Given the description of an element on the screen output the (x, y) to click on. 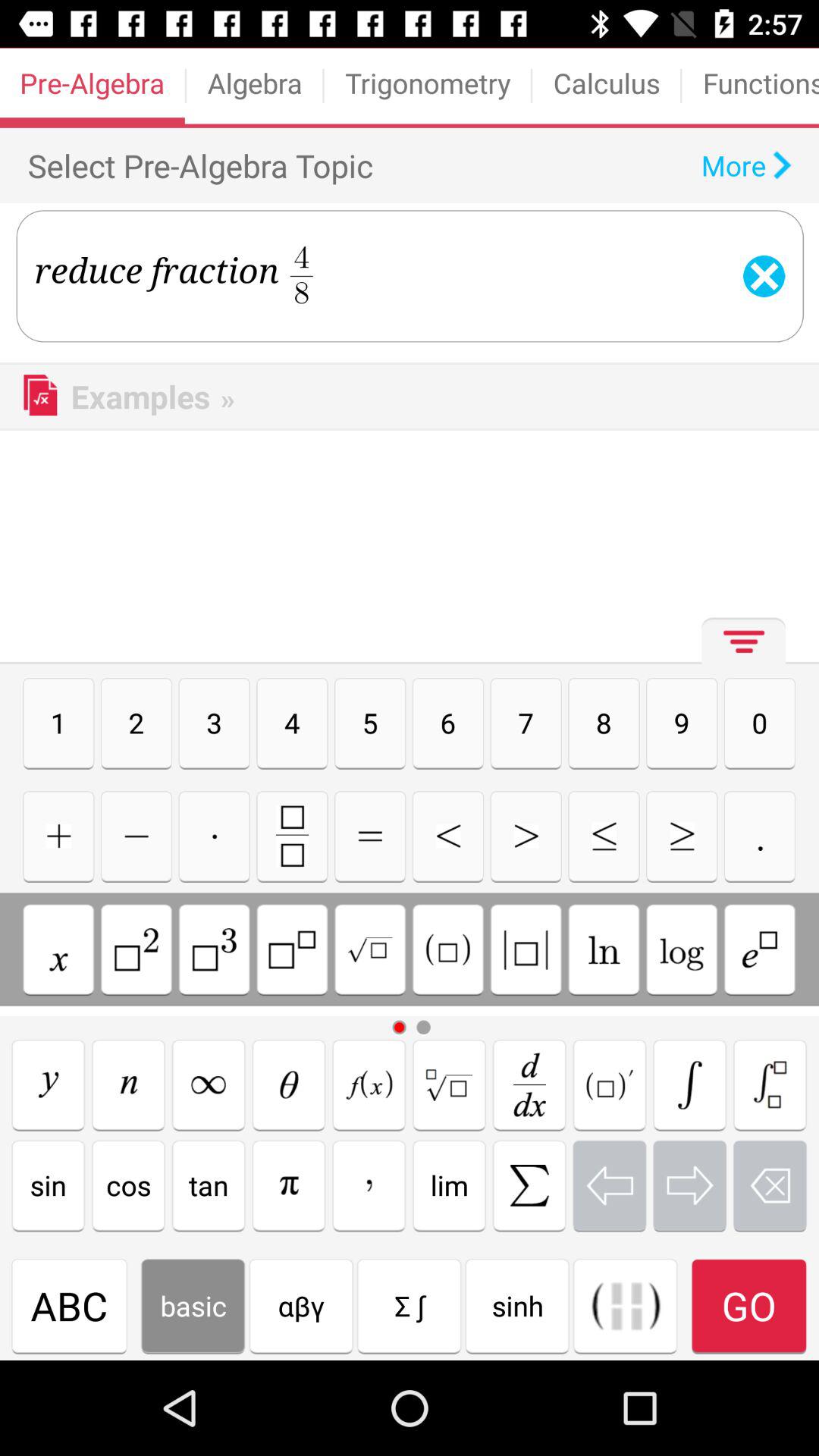
symbol (288, 1185)
